Given the description of an element on the screen output the (x, y) to click on. 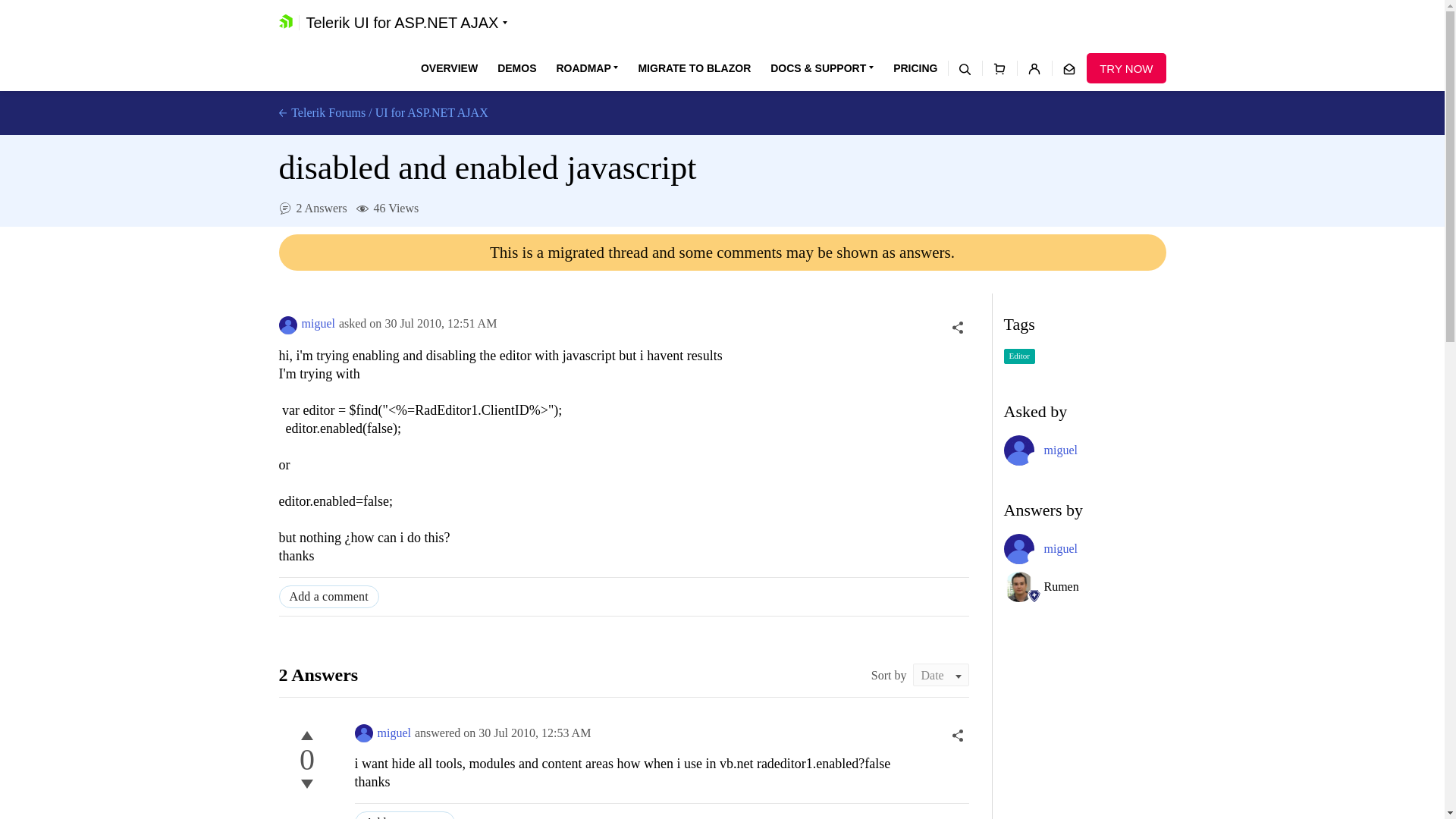
This answer is helpful. (306, 734)
Telerik UI for ASP.NET AJAX (406, 22)
ROADMAP (586, 67)
DEMOS (516, 67)
This answer is not helpful. (306, 784)
SKIP NAVIGATION (339, 7)
Search (964, 67)
Editor (1019, 355)
Shopping cart (998, 67)
Your Account (1033, 67)
Contact Us (1068, 67)
OVERVIEW (448, 67)
